Given the description of an element on the screen output the (x, y) to click on. 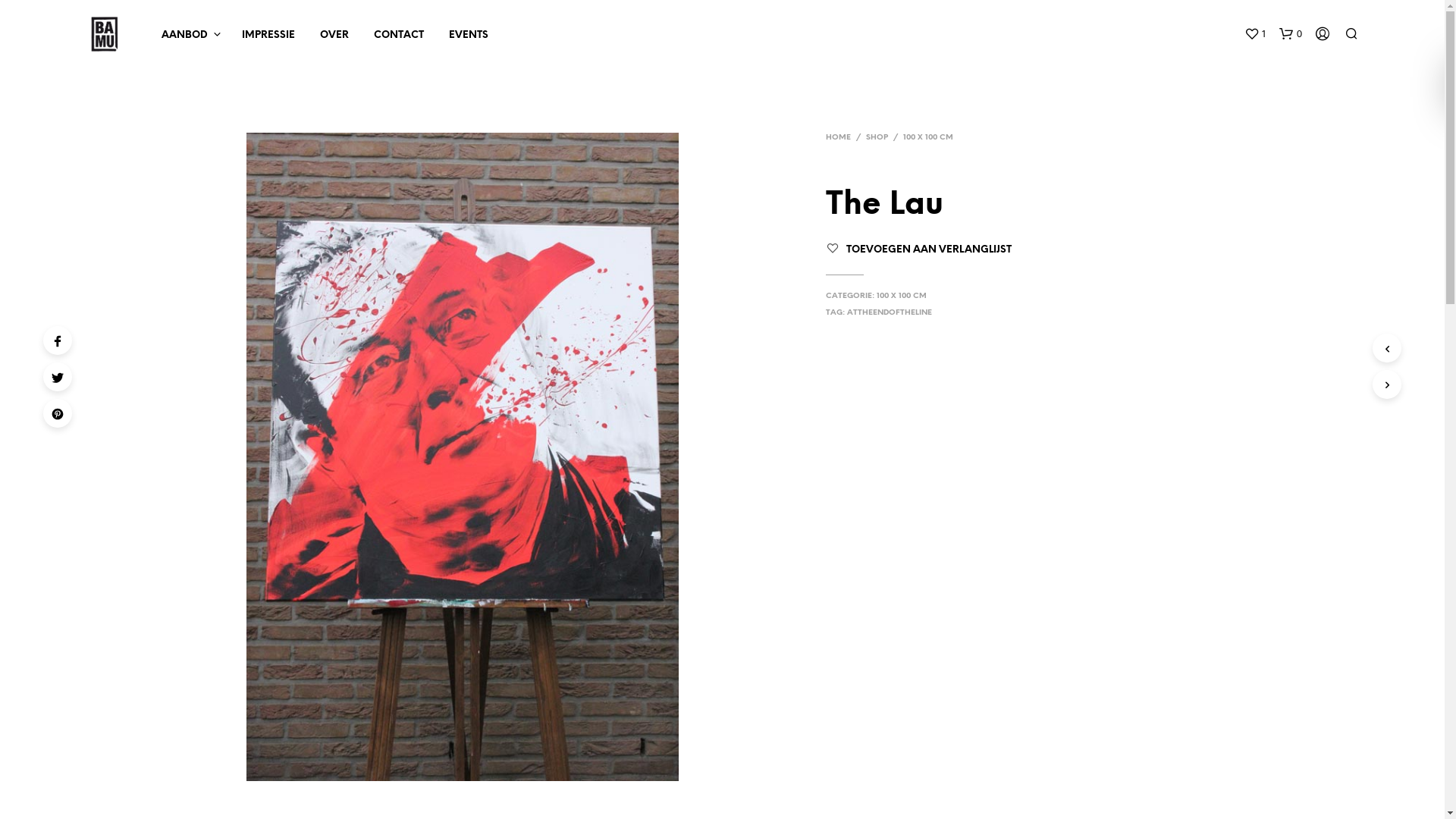
HOME Element type: text (837, 137)
CONTACT Element type: text (398, 35)
0 Element type: text (1289, 33)
TOEVOEGEN AAN VERLANGLIJST Element type: text (928, 249)
Twitter Element type: hover (57, 376)
100 X 100 CM Element type: text (928, 137)
OVER Element type: text (333, 35)
AANBOD Element type: text (184, 35)
EVENTS Element type: text (467, 35)
Facebook Element type: hover (57, 340)
IMPRESSIE Element type: text (268, 35)
ATTHEENDOFTHELINE Element type: text (889, 312)
100 X 100 CM Element type: text (901, 295)
Soms retro, altijd vintage Element type: hover (103, 34)
Pinterest Element type: hover (57, 412)
ATEOTL-200-054_THELAU Element type: hover (462, 456)
1 Element type: text (1253, 33)
SHOP Element type: text (877, 137)
